Given the description of an element on the screen output the (x, y) to click on. 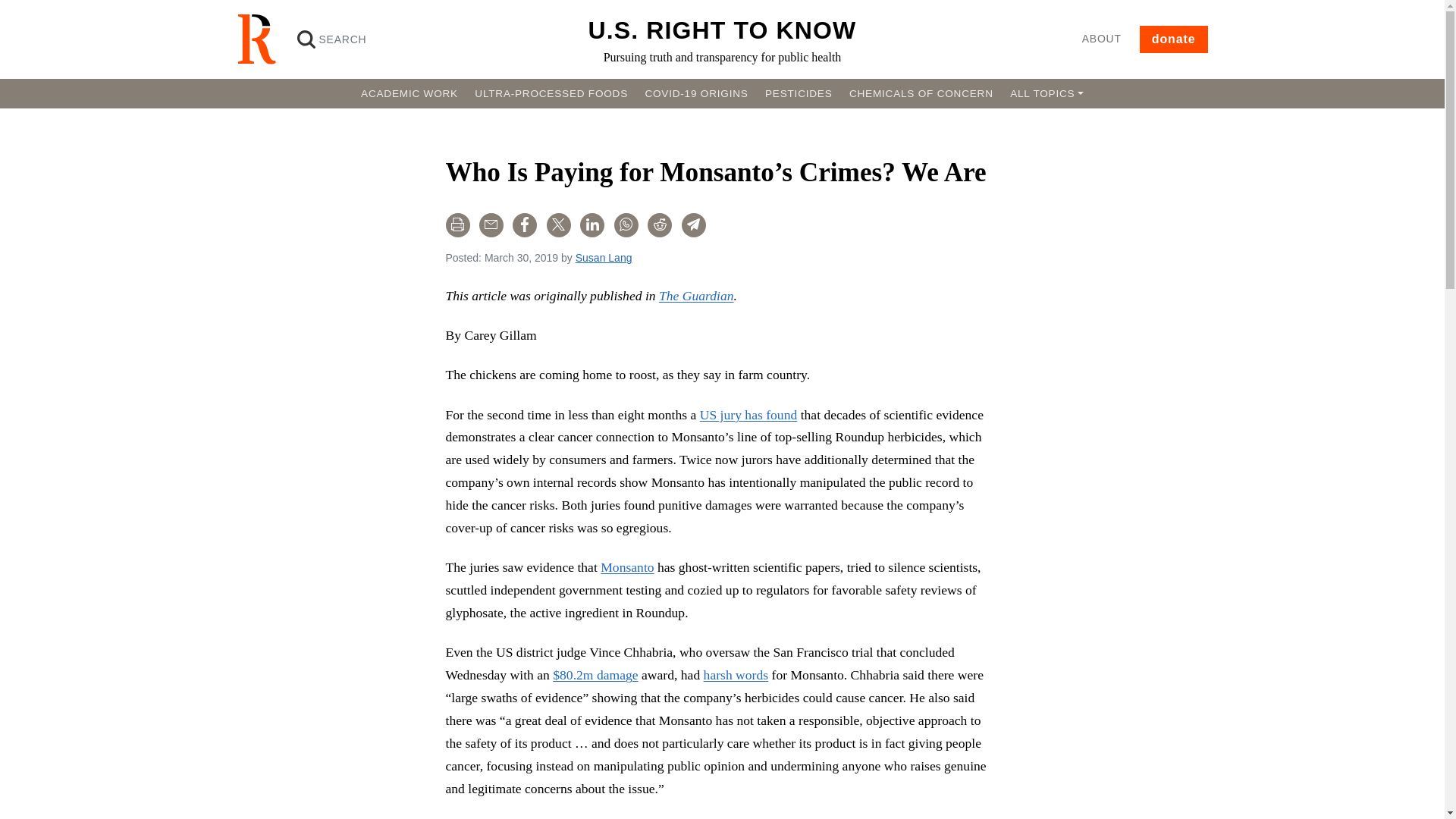
U.S. RIGHT TO KNOW (722, 30)
Posts by Susan Lang (603, 257)
ABOUT (1100, 39)
ULTRA-PROCESSED FOODS (550, 93)
ACADEMIC WORK (408, 93)
donate (1174, 39)
